Given the description of an element on the screen output the (x, y) to click on. 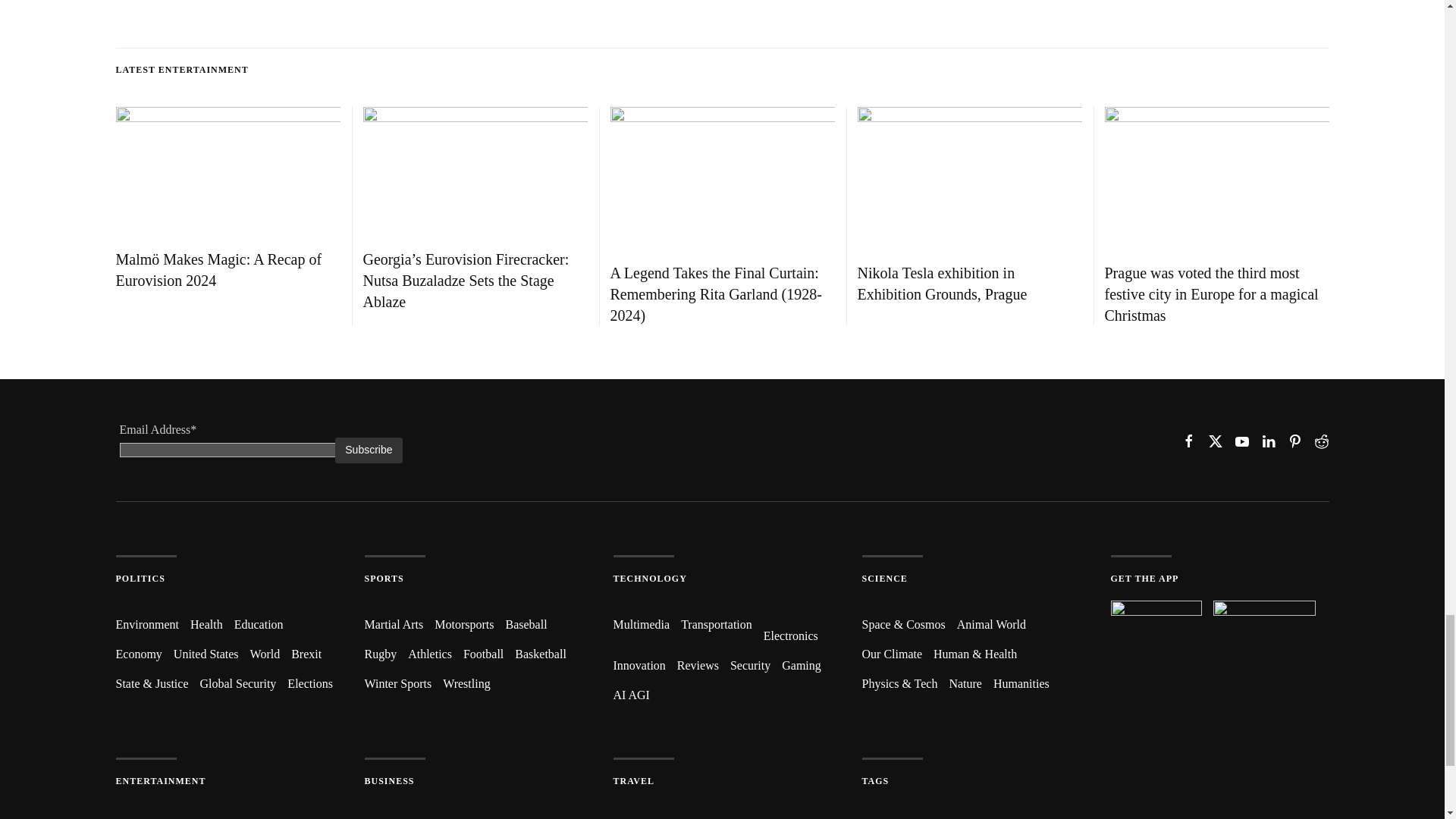
Subscribe (367, 450)
